Given the description of an element on the screen output the (x, y) to click on. 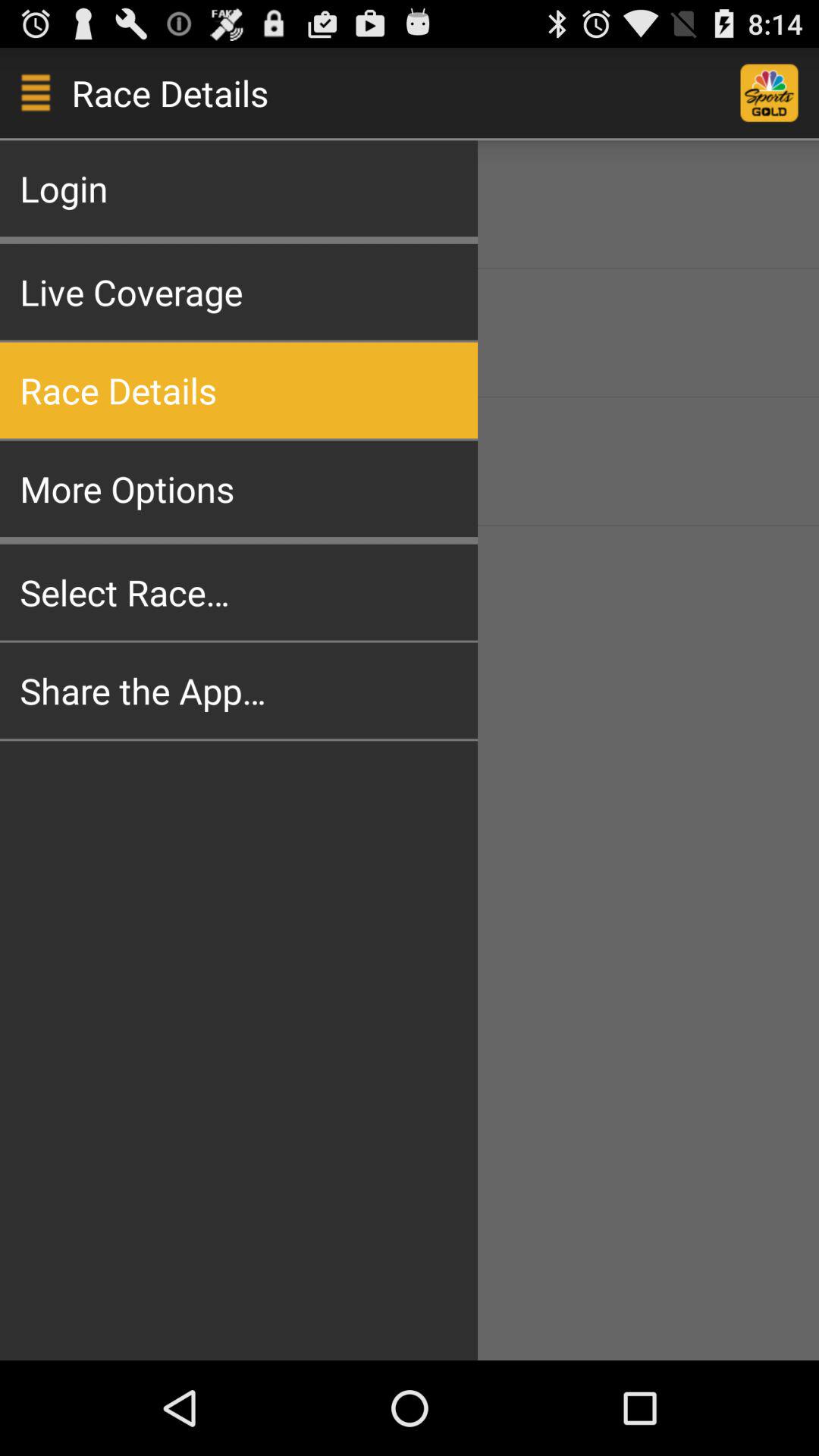
select the logo which is right corner of the page (780, 92)
